Given the description of an element on the screen output the (x, y) to click on. 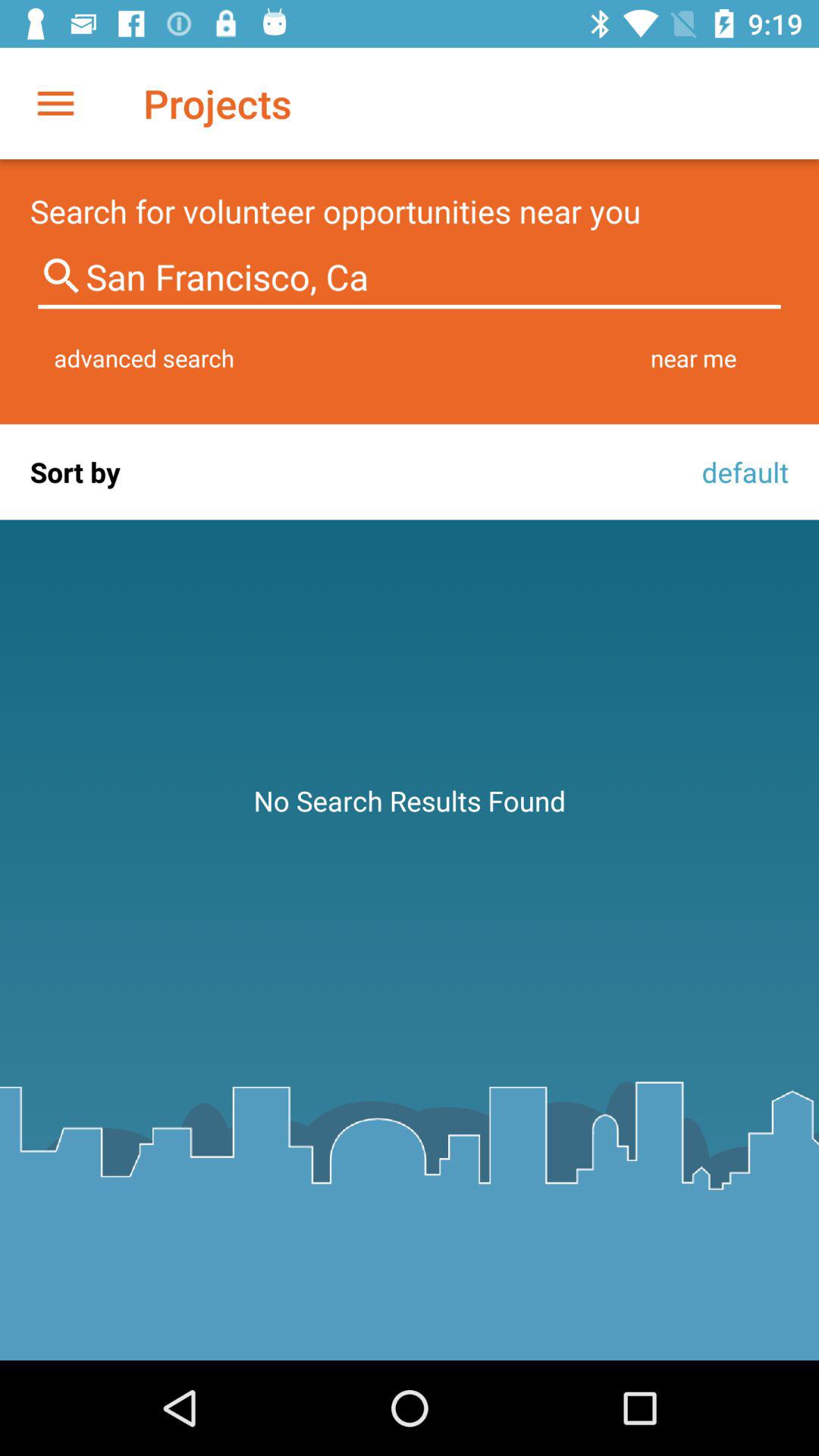
open menu (55, 103)
